Given the description of an element on the screen output the (x, y) to click on. 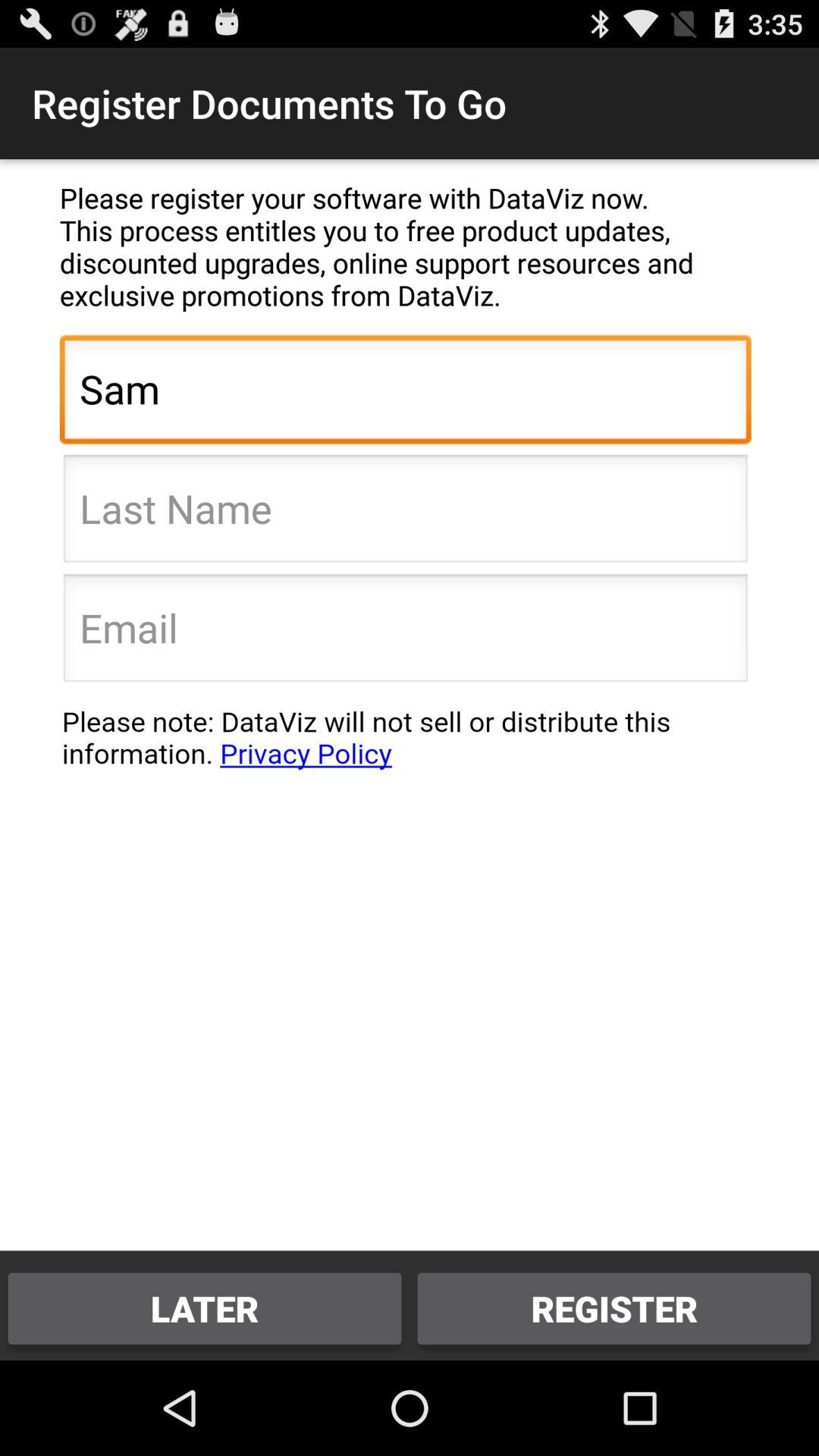
select email field (405, 632)
